Given the description of an element on the screen output the (x, y) to click on. 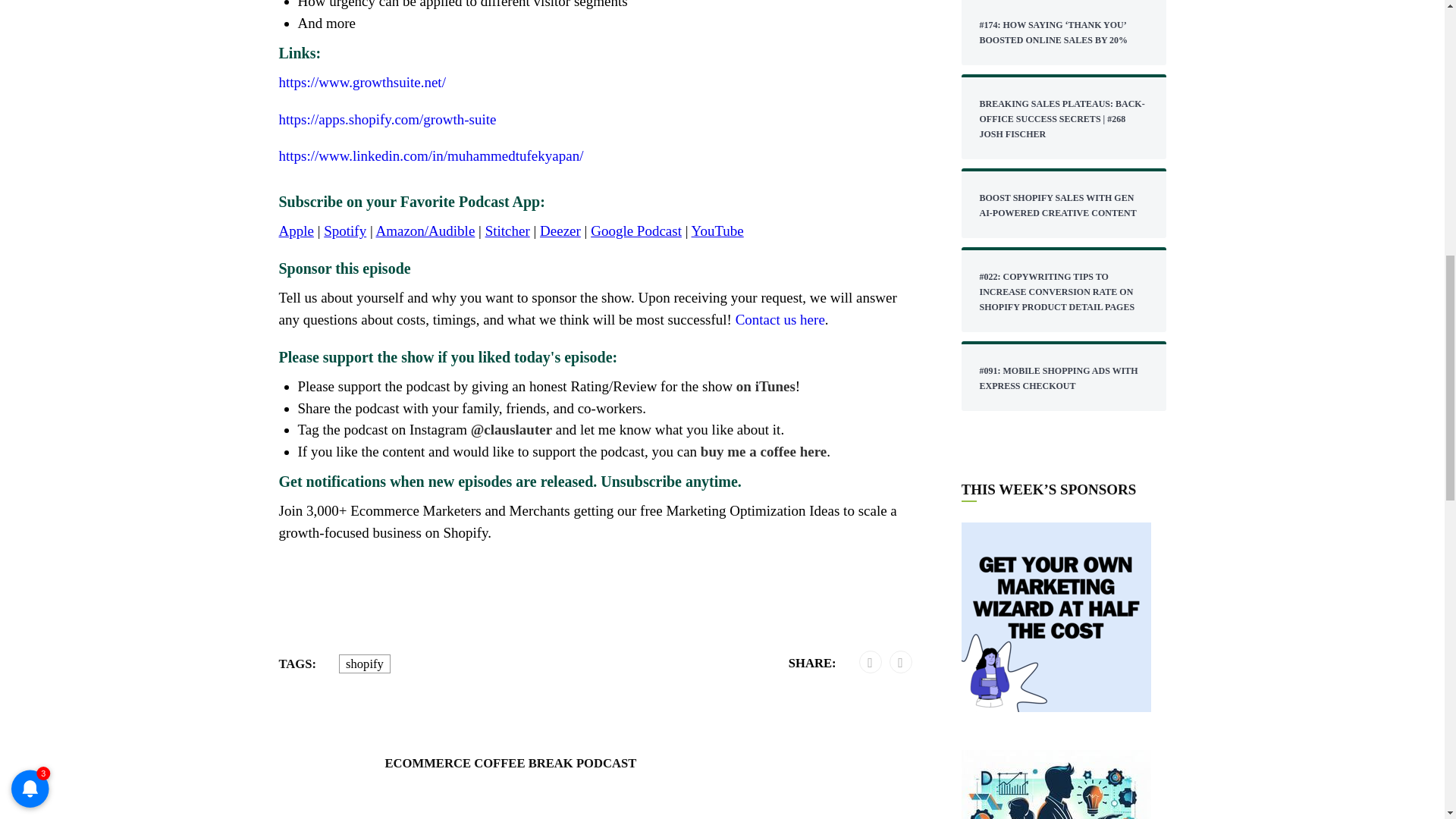
Facebook (869, 662)
Twitter (900, 662)
